Given the description of an element on the screen output the (x, y) to click on. 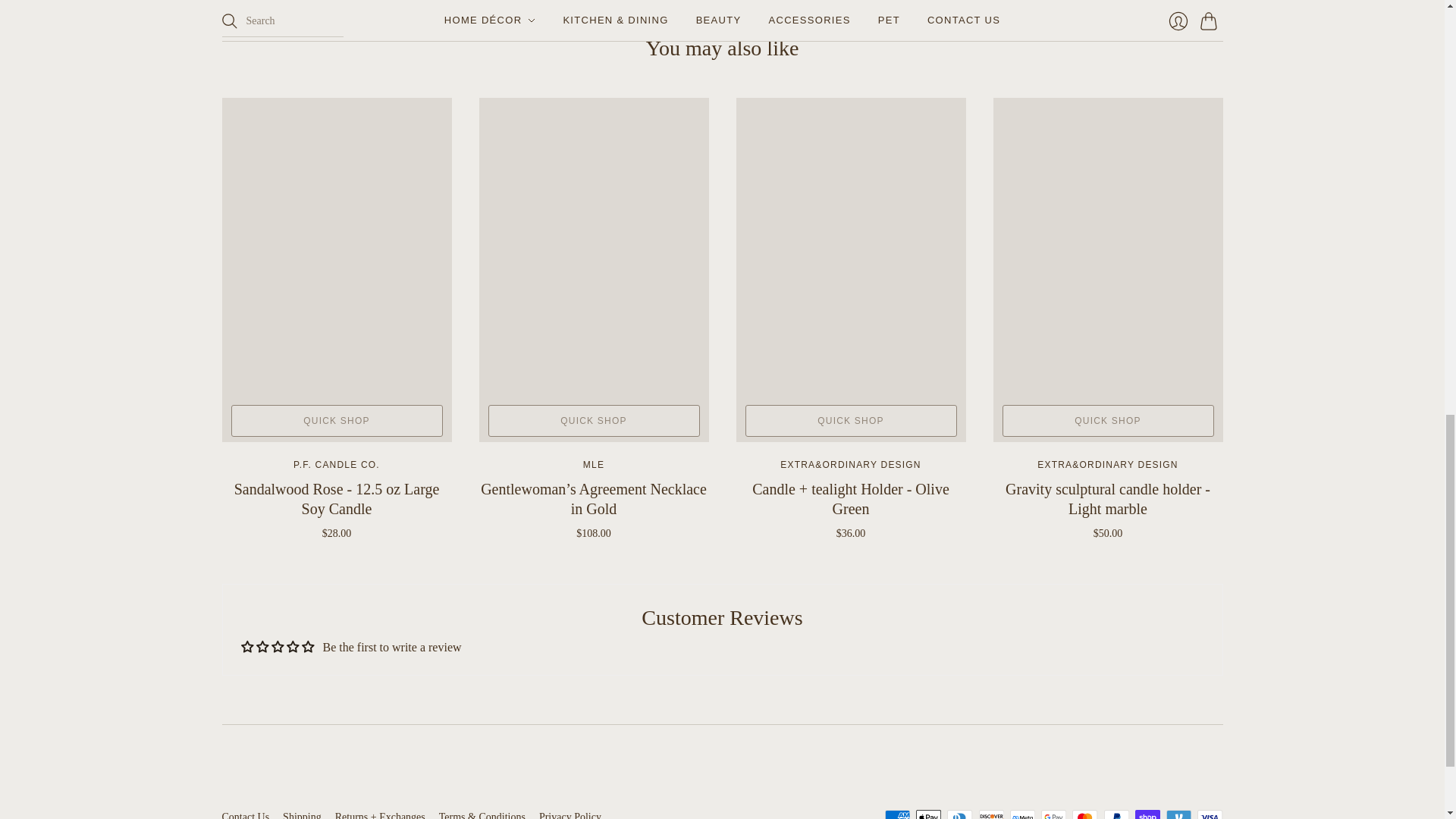
MLE (593, 464)
P.F. Candle Co. (337, 464)
